Given the description of an element on the screen output the (x, y) to click on. 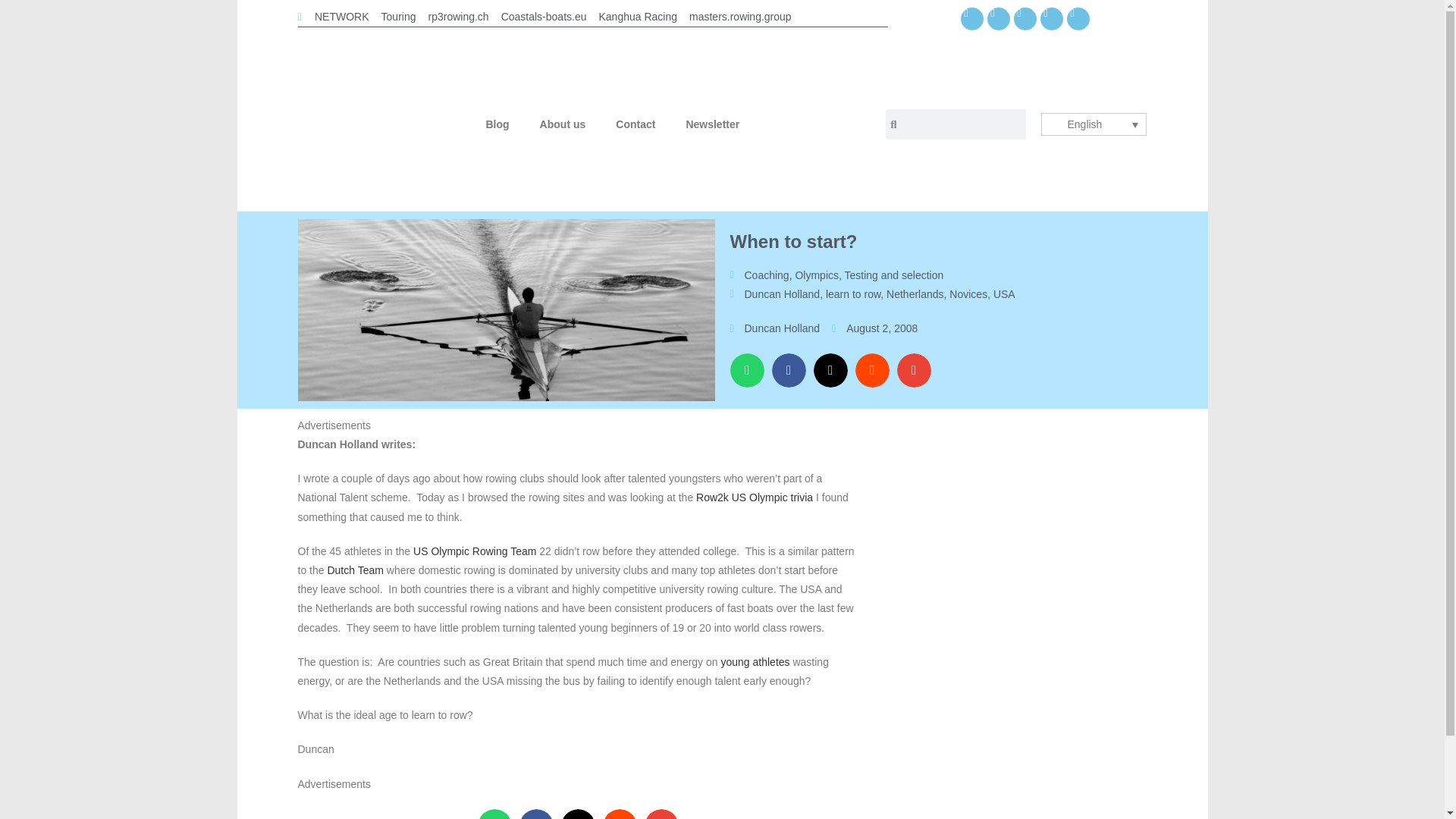
Olympics (816, 275)
English (1094, 124)
About us (562, 124)
Blog (497, 124)
Kanghua Racing (637, 16)
Contact (634, 124)
Testing and selection (893, 275)
US Olympic Rowing Team (474, 551)
Row2k (712, 497)
Touring (398, 16)
